Given the description of an element on the screen output the (x, y) to click on. 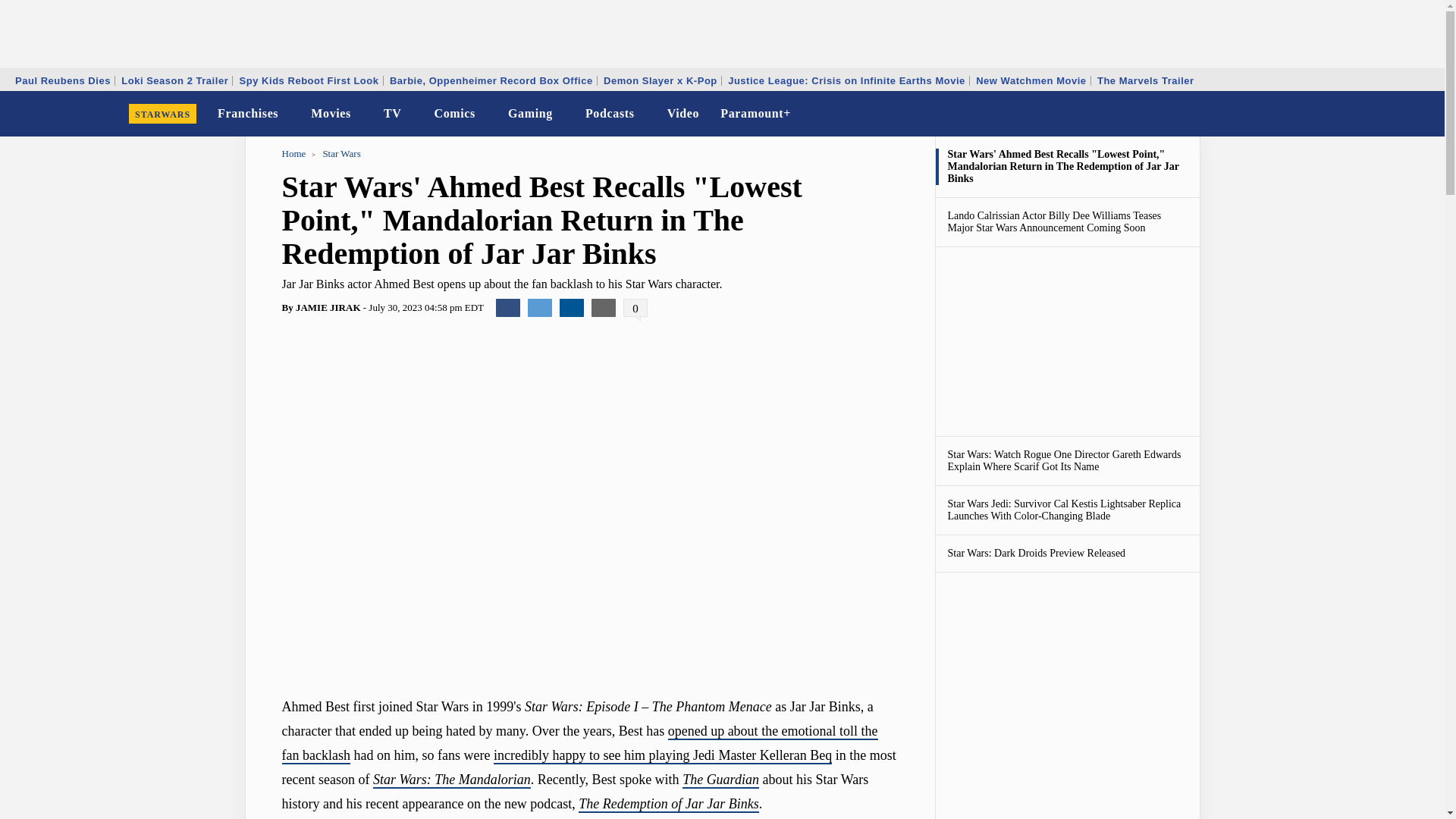
Movies (330, 113)
Search (1422, 114)
The Marvels Trailer (1145, 80)
Barbie, Oppenheimer Record Box Office (490, 80)
Justice League: Crisis on Infinite Earths Movie (846, 80)
Demon Slayer x K-Pop (659, 80)
Spy Kids Reboot First Look (308, 80)
STARWARS (162, 113)
Loki Season 2 Trailer (174, 80)
Dark Mode (1394, 113)
